Given the description of an element on the screen output the (x, y) to click on. 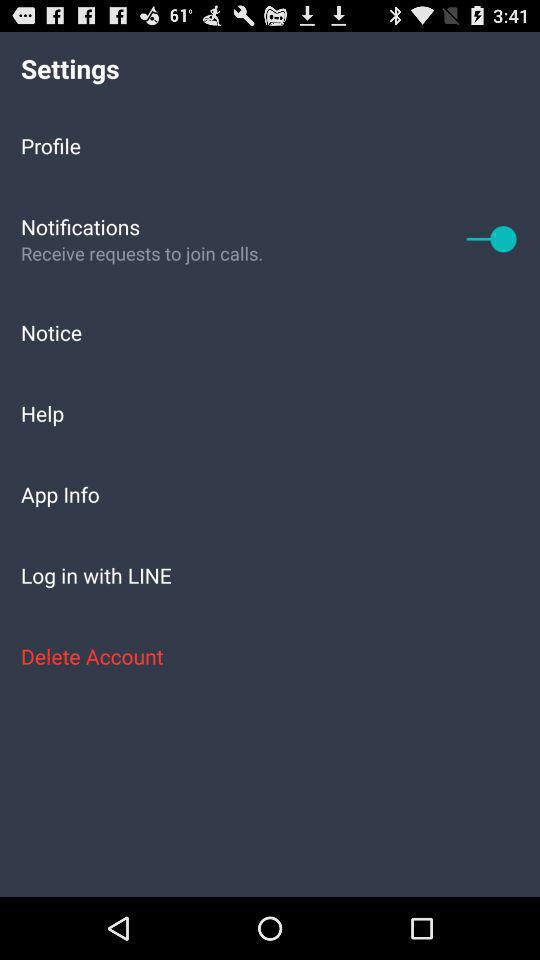
swipe to the help (270, 412)
